Given the description of an element on the screen output the (x, y) to click on. 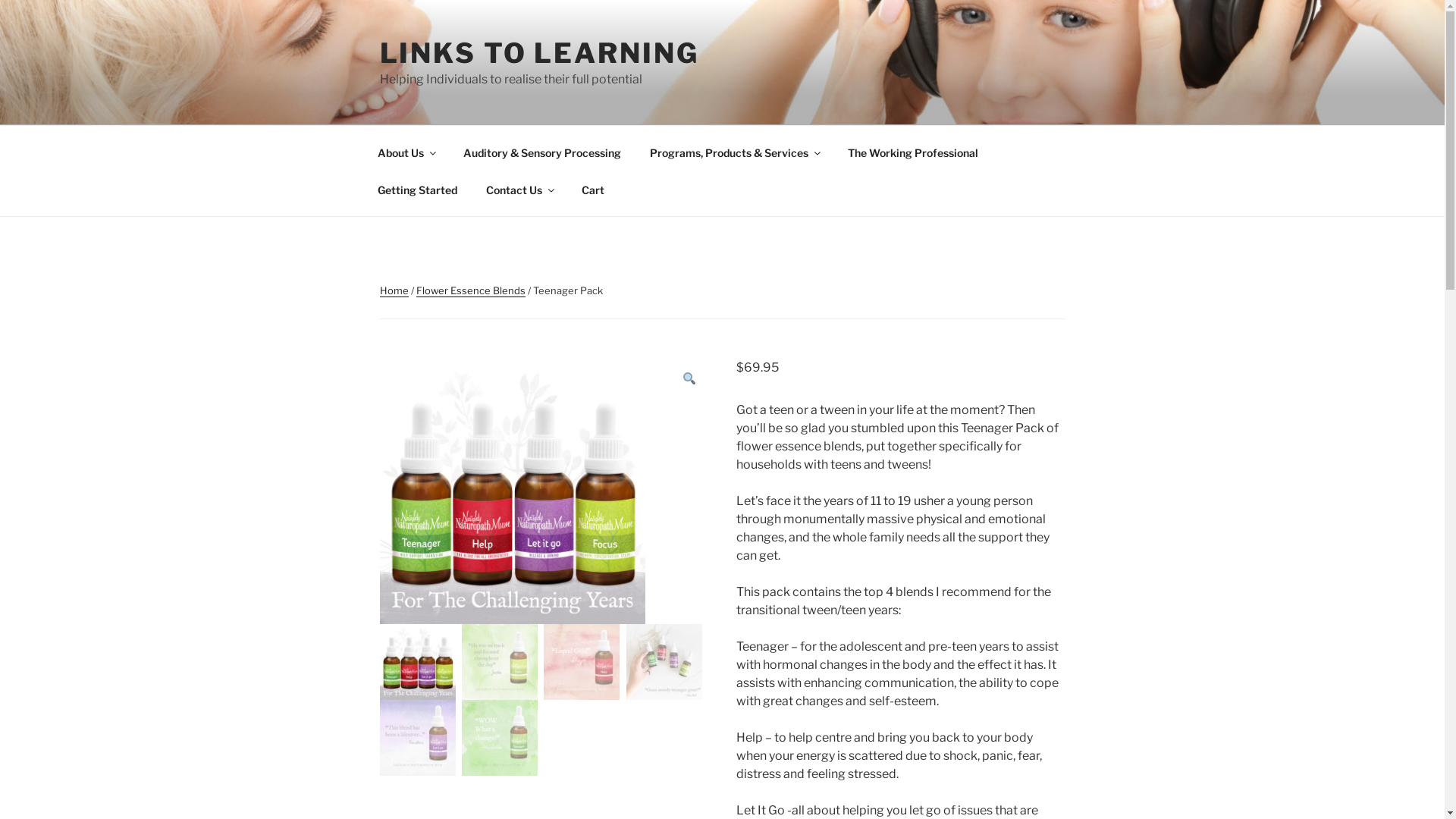
Focus_49c8e720-dcfe-410d-bab9-bdd13595ec14_720x Element type: hover (840, 490)
LINKS TO LEARNING Element type: text (538, 52)
Flower Essence Blends Element type: text (469, 290)
Programs, Products & Services Element type: text (734, 151)
Getting Started Element type: text (417, 189)
Cart Element type: text (593, 189)
Auditory & Sensory Processing Element type: text (542, 151)
Home Element type: text (393, 290)
The Working Professional Element type: text (912, 151)
About Us Element type: text (405, 151)
TeenagerPack_720x Element type: hover (511, 490)
Contact Us Element type: text (519, 189)
